Given the description of an element on the screen output the (x, y) to click on. 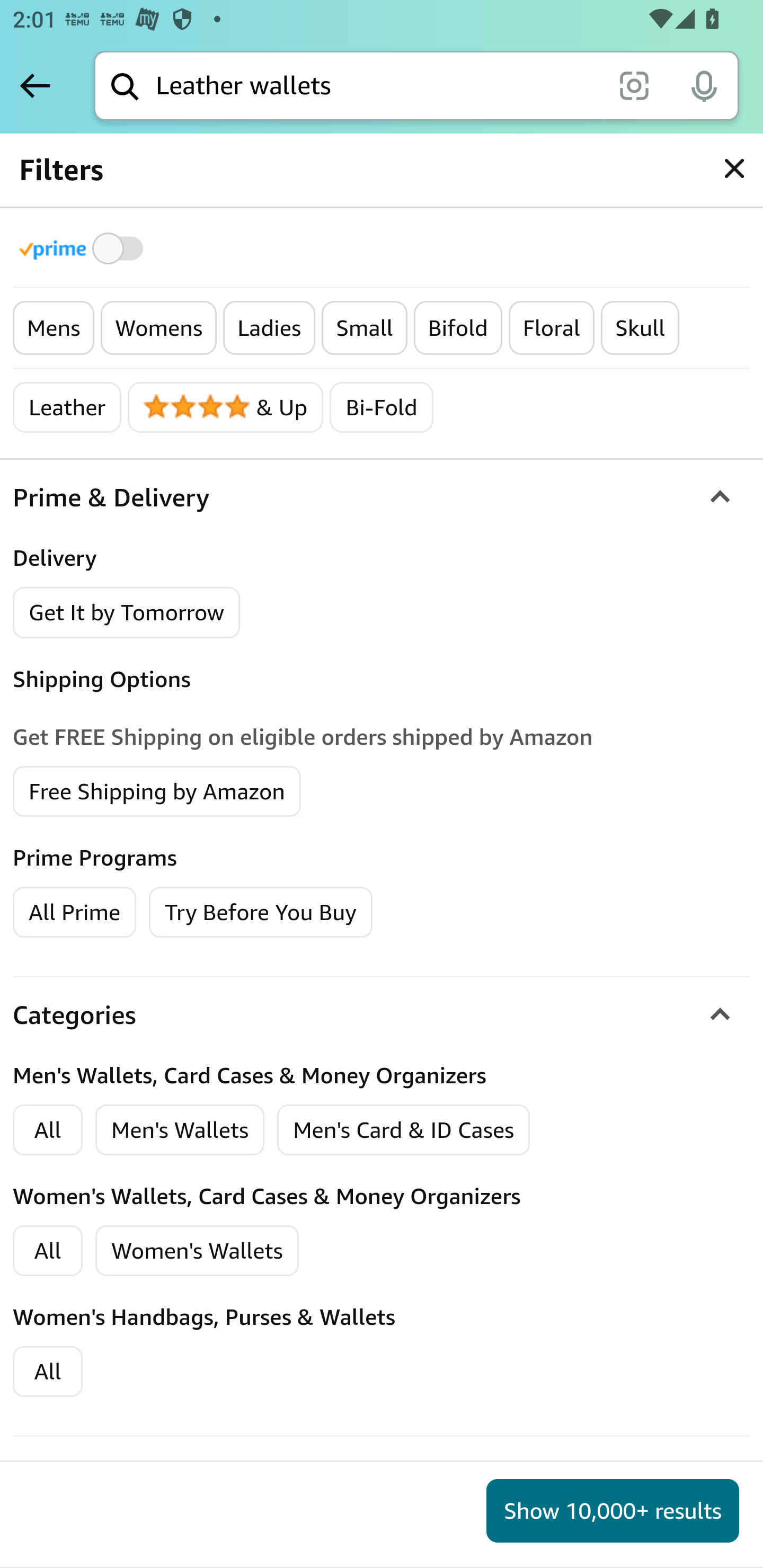
Back (35, 85)
scan it (633, 85)
Toggle to filter by Prime products Prime Eligible (83, 247)
Mens (53, 328)
Womens (158, 328)
Ladies (269, 328)
Small (364, 328)
Bifold (457, 328)
Floral (550, 328)
Skull (640, 328)
Leather (67, 407)
4 Stars & Up (225, 407)
Bi-Fold (381, 407)
Prime & Delivery (381, 498)
Get It by Tomorrow (126, 612)
Free Shipping by Amazon (157, 790)
All Prime (74, 911)
Try Before You Buy (260, 911)
Categories (381, 1014)
All (47, 1129)
Men's Wallets (180, 1129)
Men's Card & ID Cases (403, 1129)
All (47, 1250)
Women's Wallets (197, 1250)
All (47, 1371)
Show 10,000+ results (612, 1510)
